Given the description of an element on the screen output the (x, y) to click on. 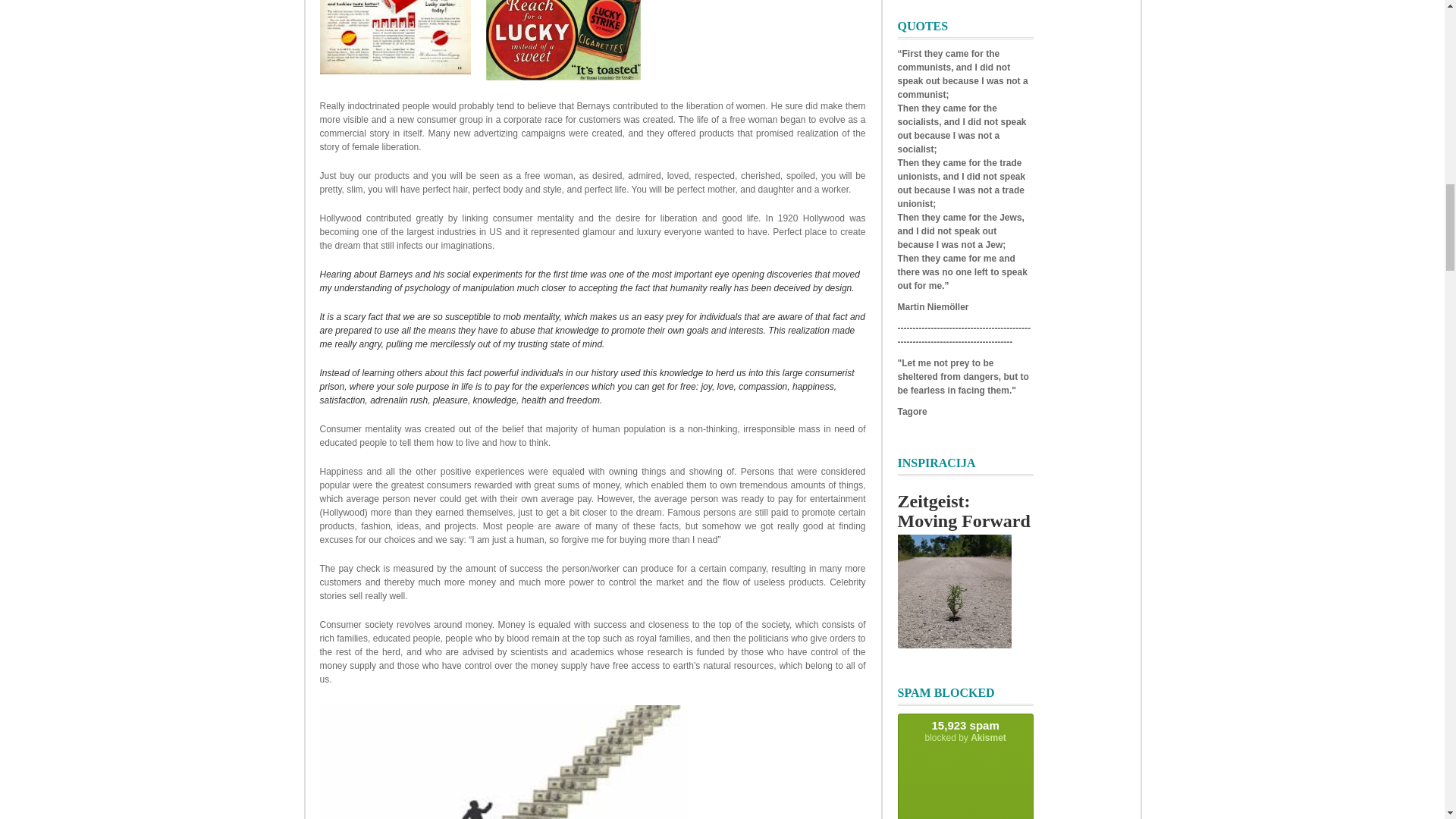
Permalink to Zeitgeist: Moving Forward (964, 510)
OLYMPUS DIGITAL CAMERA (954, 591)
